Given the description of an element on the screen output the (x, y) to click on. 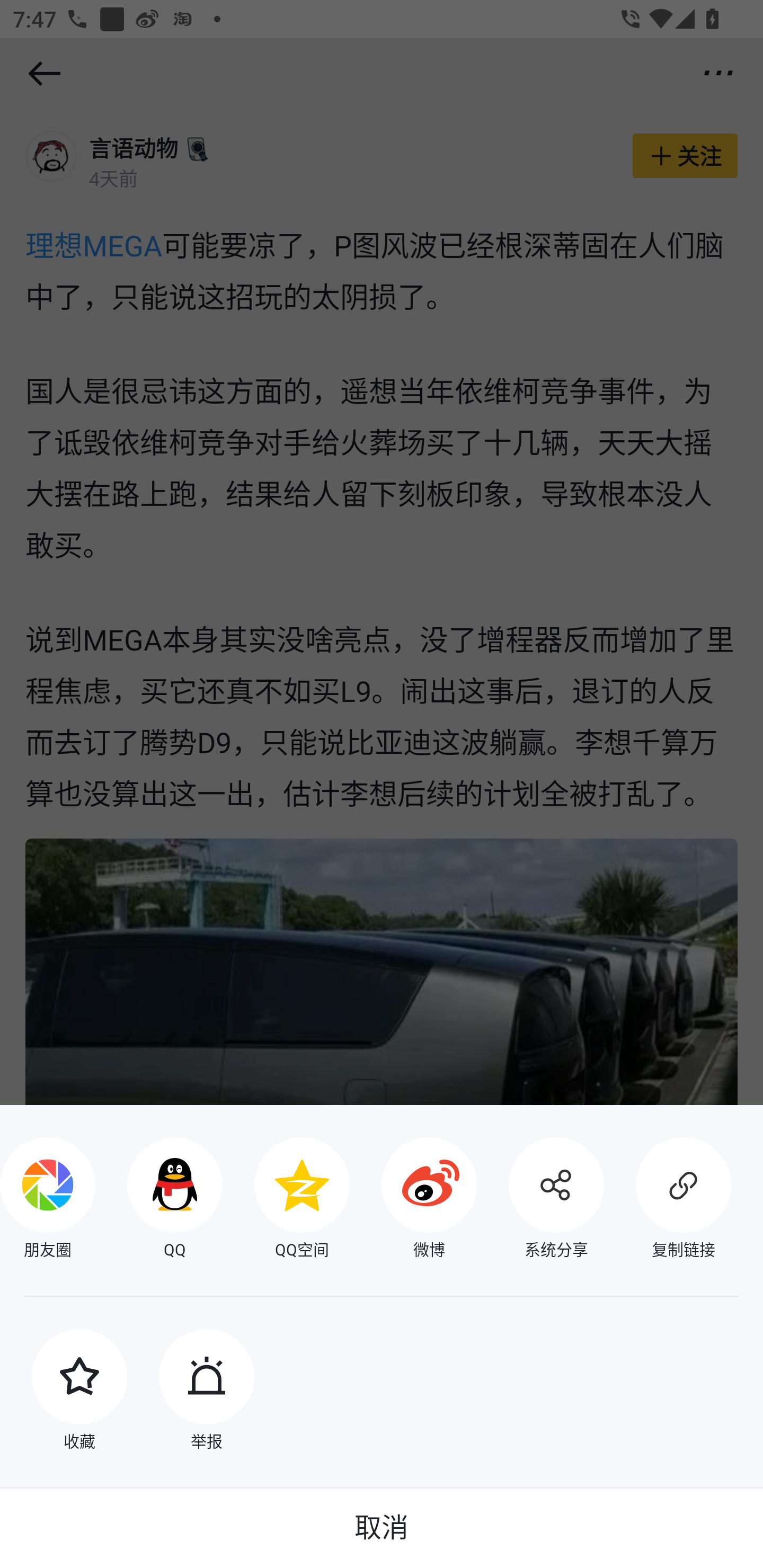
朋友圈 (47, 1200)
QQ (158, 1200)
QQ空间 (285, 1200)
微博 (412, 1200)
系统分享 (540, 1200)
复制链接 (667, 1200)
收藏 (63, 1392)
 举报 (190, 1392)
取消 (381, 1528)
